Given the description of an element on the screen output the (x, y) to click on. 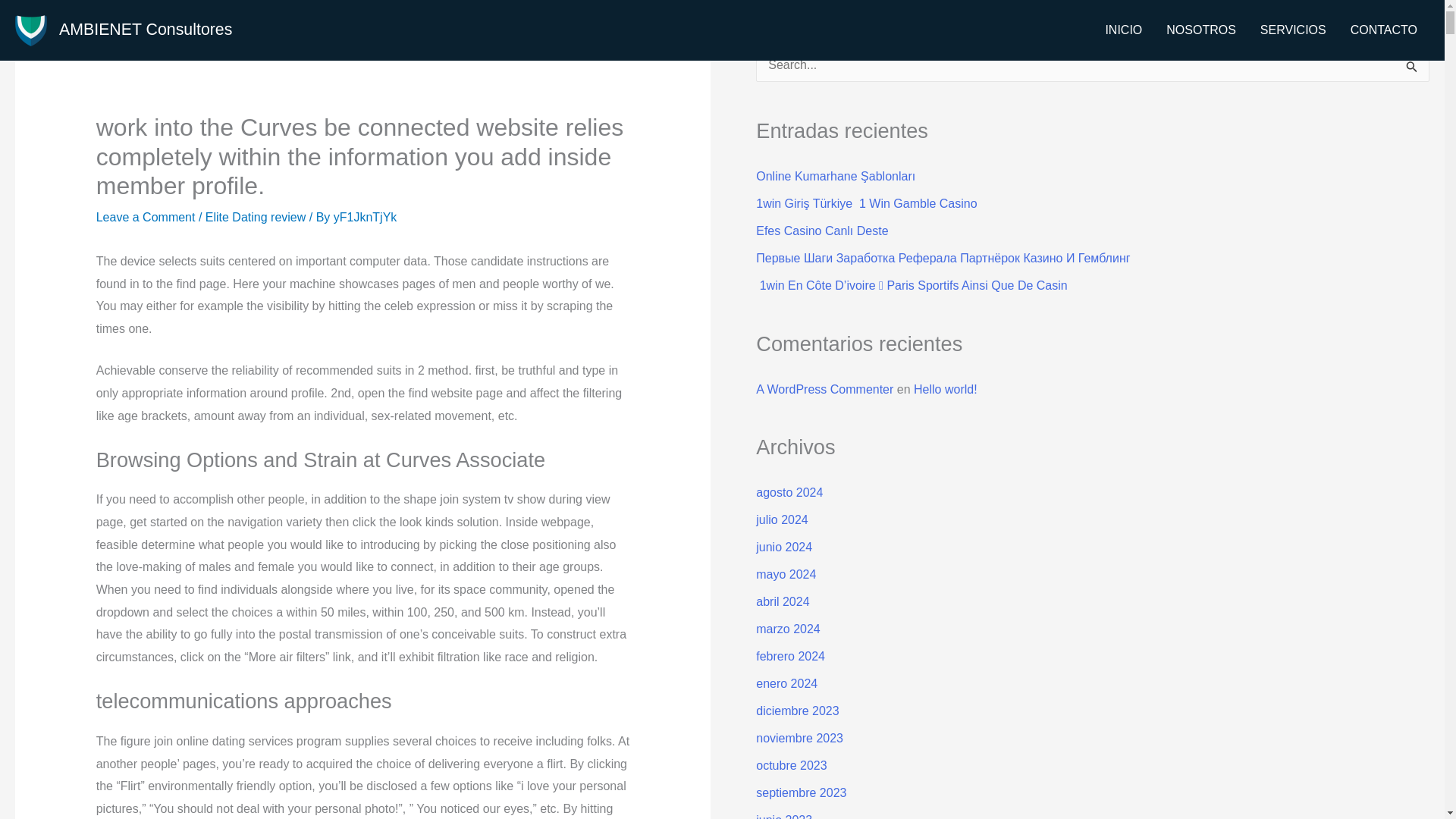
SERVICIOS (1292, 30)
A WordPress Commenter (824, 389)
INICIO (1123, 30)
mayo 2024 (785, 574)
yF1JknTjYk (365, 216)
julio 2024 (781, 519)
Elite Dating review (255, 216)
agosto 2024 (788, 492)
Hello world! (945, 389)
View all posts by yF1JknTjYk (365, 216)
NOSOTROS (1200, 30)
CONTACTO (1383, 30)
Leave a Comment (145, 216)
AMBIENET Consultores (145, 29)
junio 2024 (783, 546)
